Given the description of an element on the screen output the (x, y) to click on. 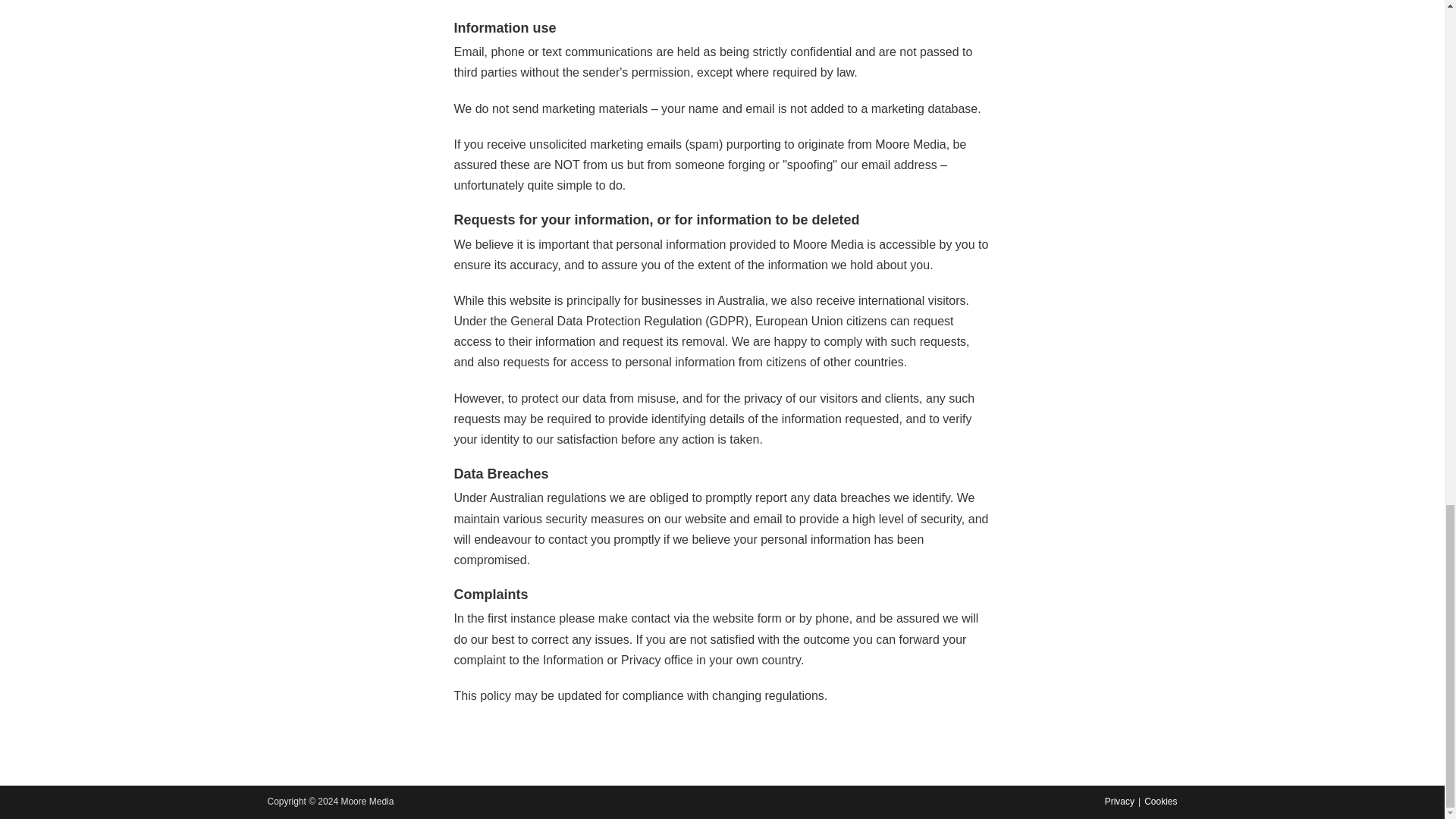
Cookies (1160, 801)
Privacy (1119, 801)
